Given the description of an element on the screen output the (x, y) to click on. 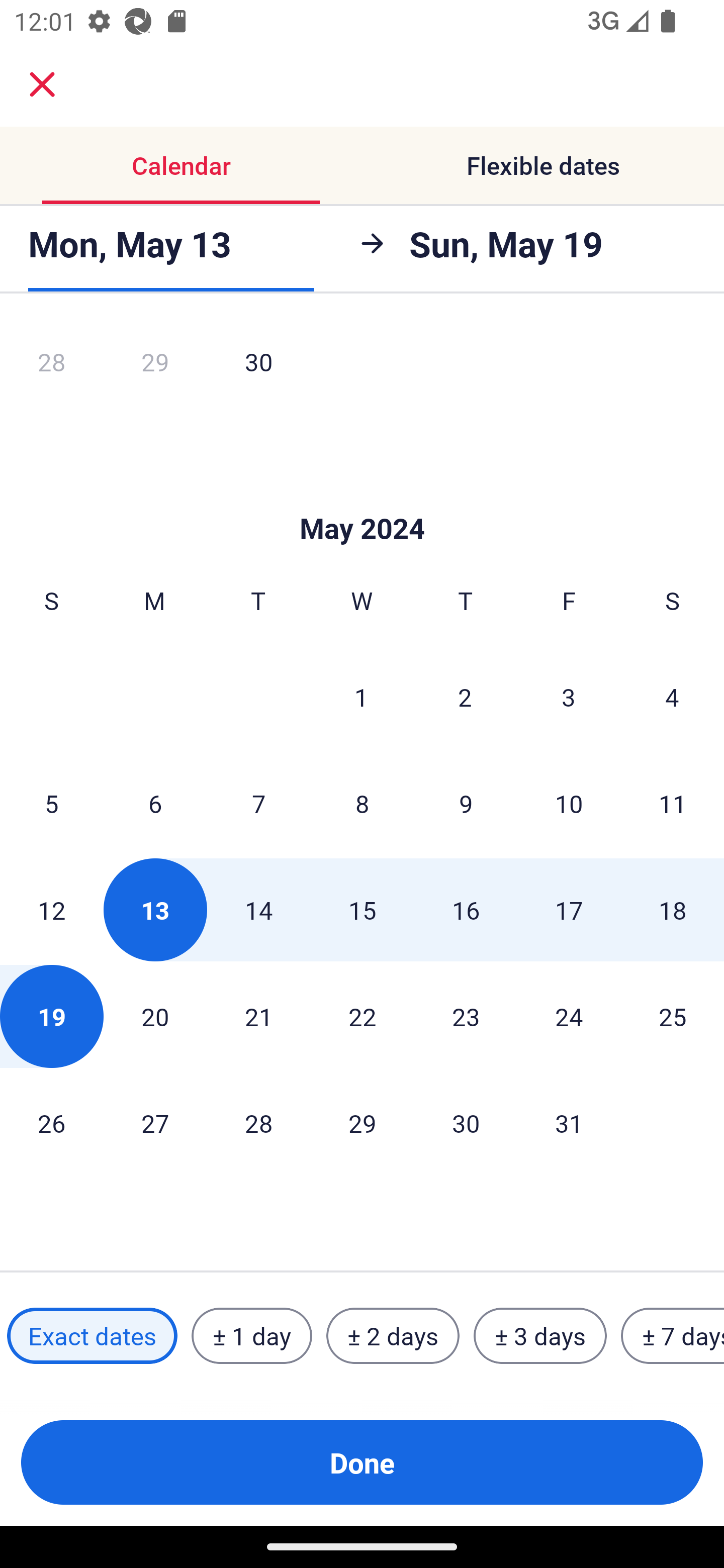
close. (42, 84)
Flexible dates (542, 164)
28 Sunday, April 28, 2024 (51, 366)
29 Monday, April 29, 2024 (155, 366)
30 Tuesday, April 30, 2024 (258, 366)
Skip to Done (362, 498)
1 Wednesday, May 1, 2024 (361, 696)
2 Thursday, May 2, 2024 (464, 696)
3 Friday, May 3, 2024 (568, 696)
4 Saturday, May 4, 2024 (672, 696)
5 Sunday, May 5, 2024 (51, 802)
6 Monday, May 6, 2024 (155, 802)
7 Tuesday, May 7, 2024 (258, 802)
8 Wednesday, May 8, 2024 (362, 802)
9 Thursday, May 9, 2024 (465, 802)
10 Friday, May 10, 2024 (569, 802)
11 Saturday, May 11, 2024 (672, 802)
12 Sunday, May 12, 2024 (51, 909)
20 Monday, May 20, 2024 (155, 1015)
21 Tuesday, May 21, 2024 (258, 1015)
22 Wednesday, May 22, 2024 (362, 1015)
23 Thursday, May 23, 2024 (465, 1015)
24 Friday, May 24, 2024 (569, 1015)
25 Saturday, May 25, 2024 (672, 1015)
26 Sunday, May 26, 2024 (51, 1122)
27 Monday, May 27, 2024 (155, 1122)
28 Tuesday, May 28, 2024 (258, 1122)
29 Wednesday, May 29, 2024 (362, 1122)
30 Thursday, May 30, 2024 (465, 1122)
31 Friday, May 31, 2024 (569, 1122)
Exact dates (92, 1335)
± 1 day (251, 1335)
± 2 days (392, 1335)
± 3 days (539, 1335)
± 7 days (672, 1335)
Done (361, 1462)
